Given the description of an element on the screen output the (x, y) to click on. 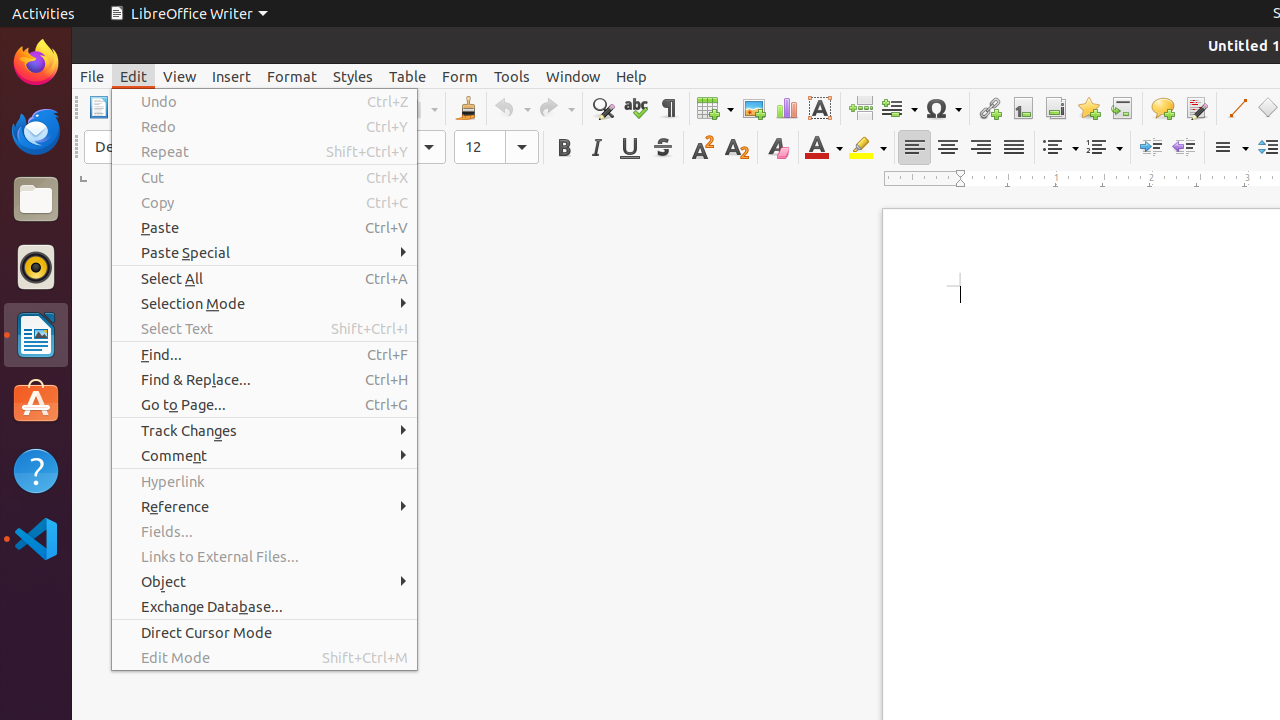
Fields... Element type: menu-item (264, 531)
Find... Element type: menu-item (264, 354)
Select Text Element type: menu-item (264, 328)
Help Element type: push-button (36, 470)
Chart Element type: push-button (786, 108)
